Given the description of an element on the screen output the (x, y) to click on. 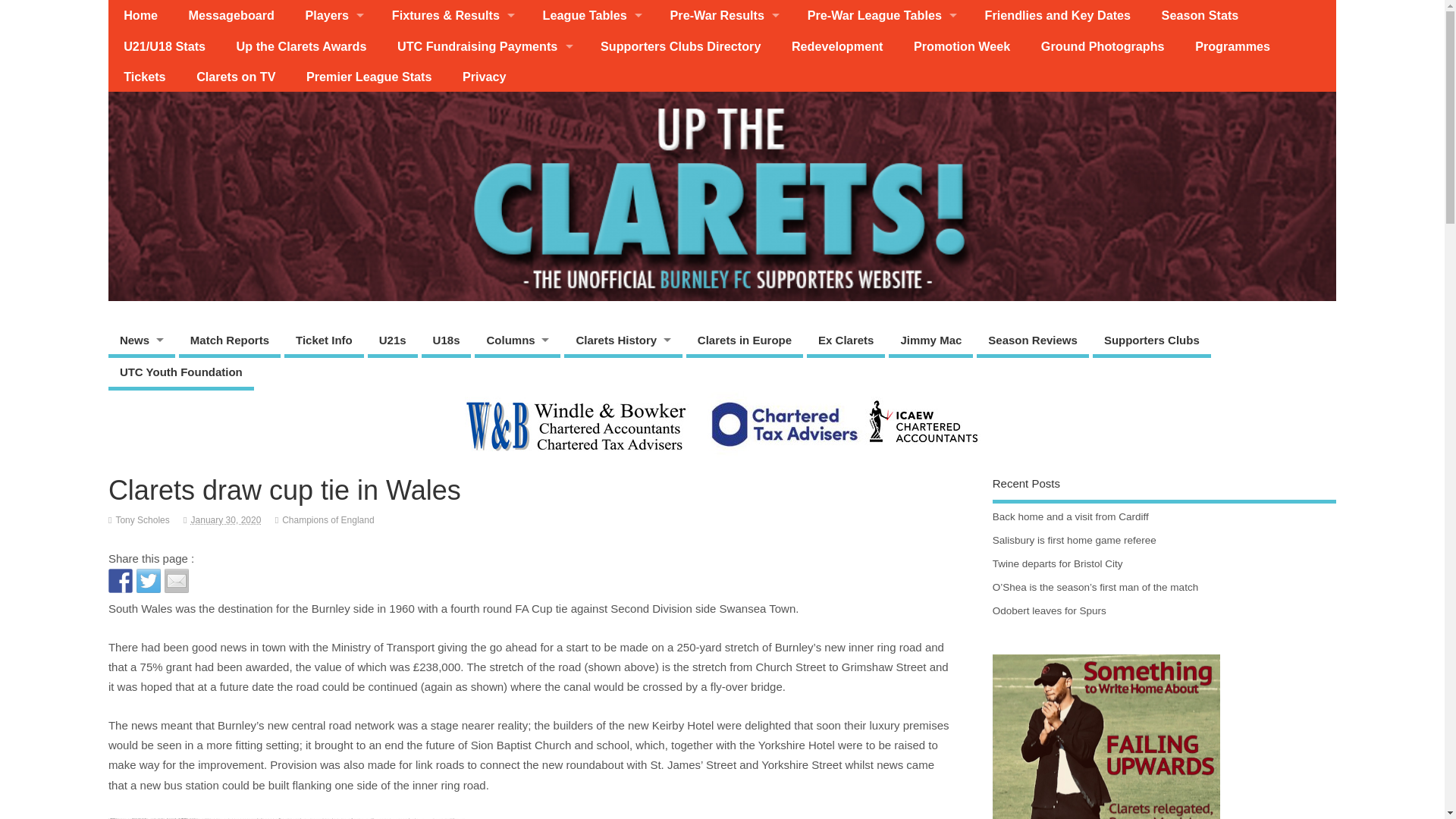
Messageboard (231, 15)
Messageboard (231, 15)
Home (140, 15)
Share on Facebook (119, 580)
Players (332, 15)
Posts by Tony Scholes (141, 520)
Share on Twitter (148, 580)
Share by email (176, 580)
